Given the description of an element on the screen output the (x, y) to click on. 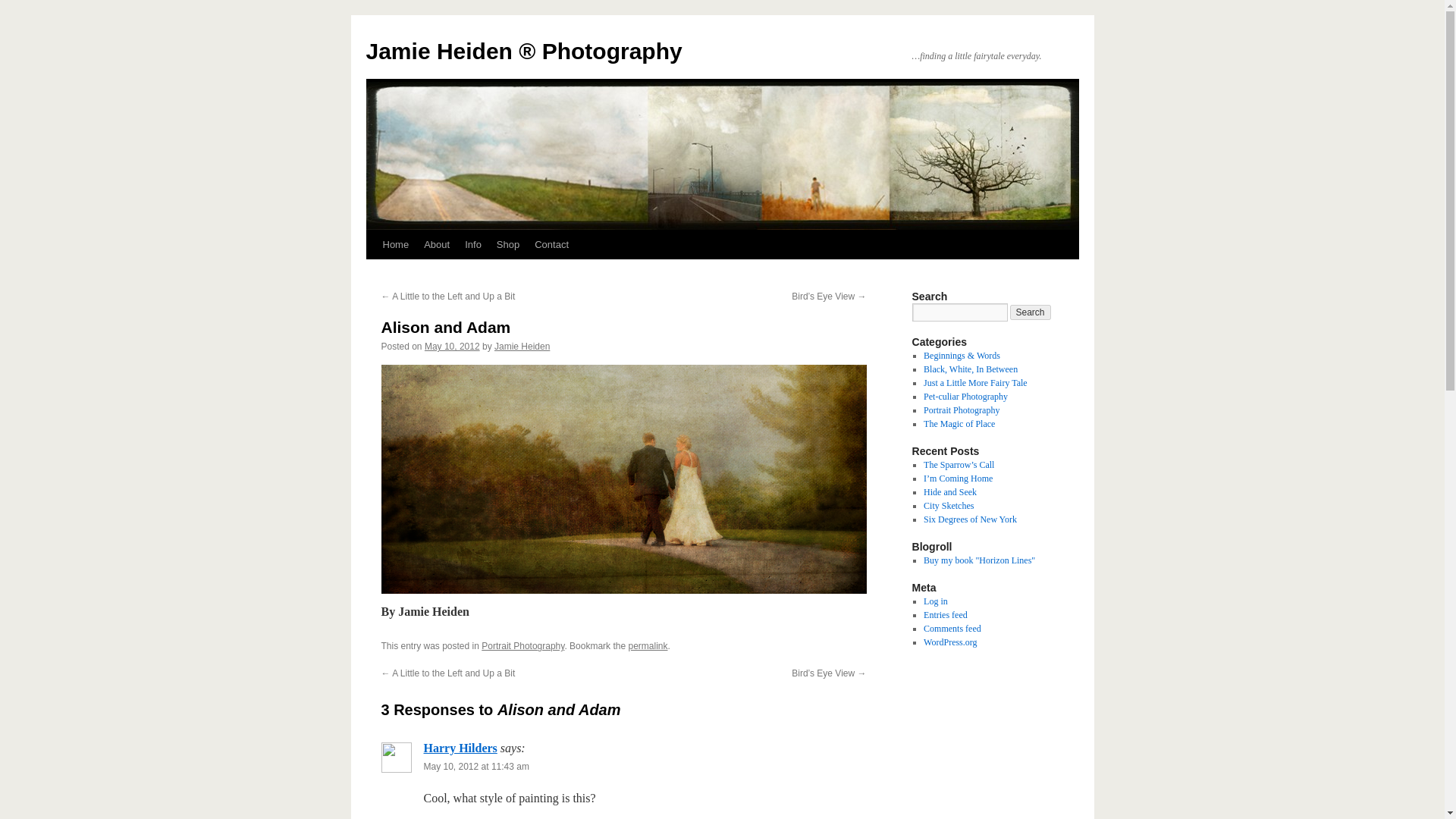
View all posts by Jamie Heiden (522, 346)
Contact (551, 244)
Entries feed (945, 614)
Shop (508, 244)
Six Degrees of New York (969, 519)
permalink (646, 645)
WordPress.org (949, 642)
Search (1030, 312)
The Magic of Place (958, 423)
Just a Little More Fairy Tale (975, 382)
Portrait Photography (522, 645)
11:06 am (452, 346)
Jamie Heiden (522, 346)
Home (395, 244)
Black, White, In Between (970, 368)
